Given the description of an element on the screen output the (x, y) to click on. 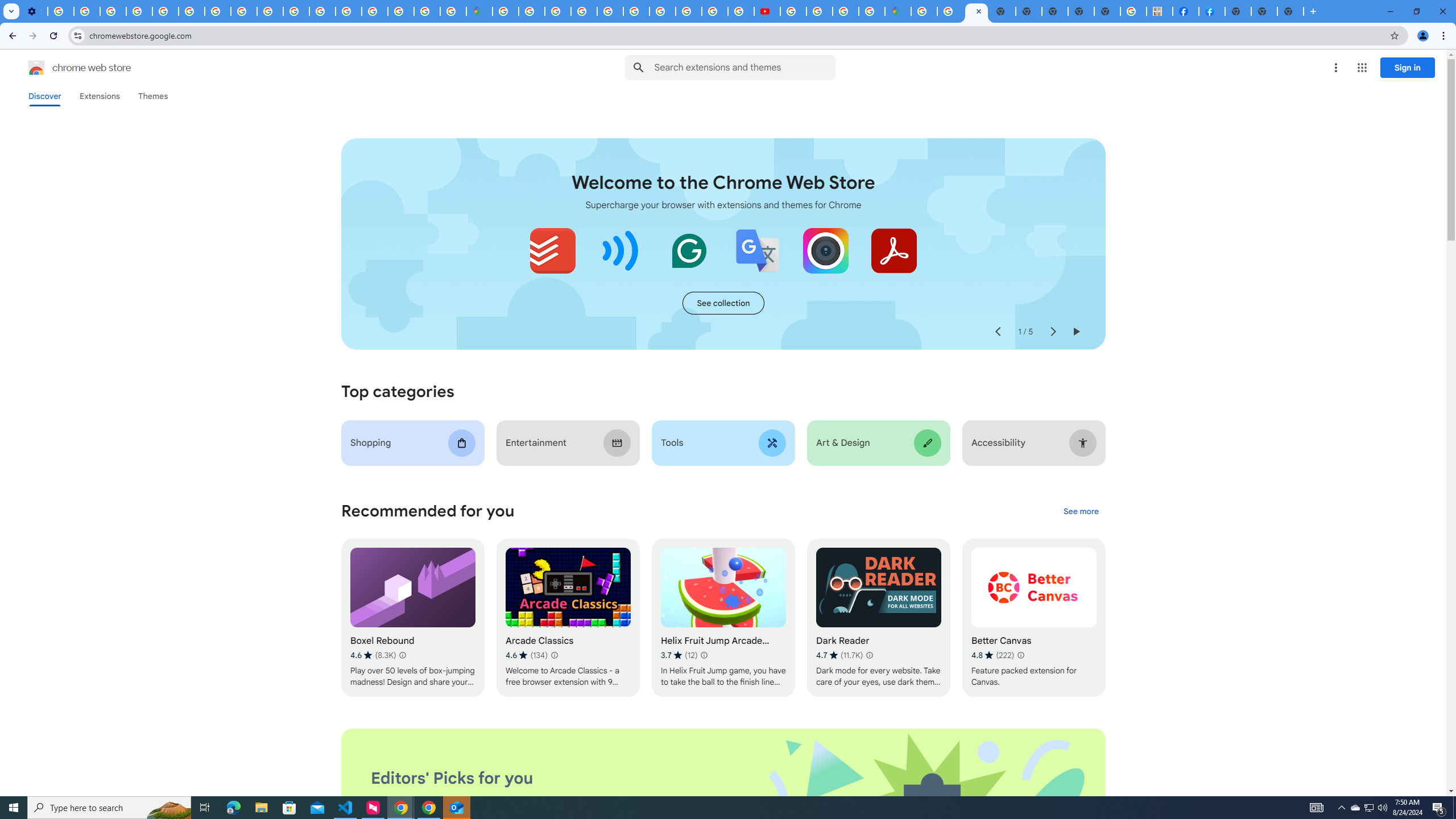
Blogger Policies and Guidelines - Transparency Center (663, 11)
https://scholar.google.com/ (217, 11)
How Chrome protects your passwords - Google Chrome Help (792, 11)
Delete photos & videos - Computer - Google Photos Help (60, 11)
Google apps (1362, 67)
Average rating 4.7 out of 5 stars. 11.7K ratings. (839, 655)
See more personalized recommendations (1080, 511)
Sign Up for Facebook (1211, 11)
Average rating 4.6 out of 5 stars. 134 ratings. (526, 655)
Miley Cyrus | Facebook (1185, 11)
More options menu (1335, 67)
